Given the description of an element on the screen output the (x, y) to click on. 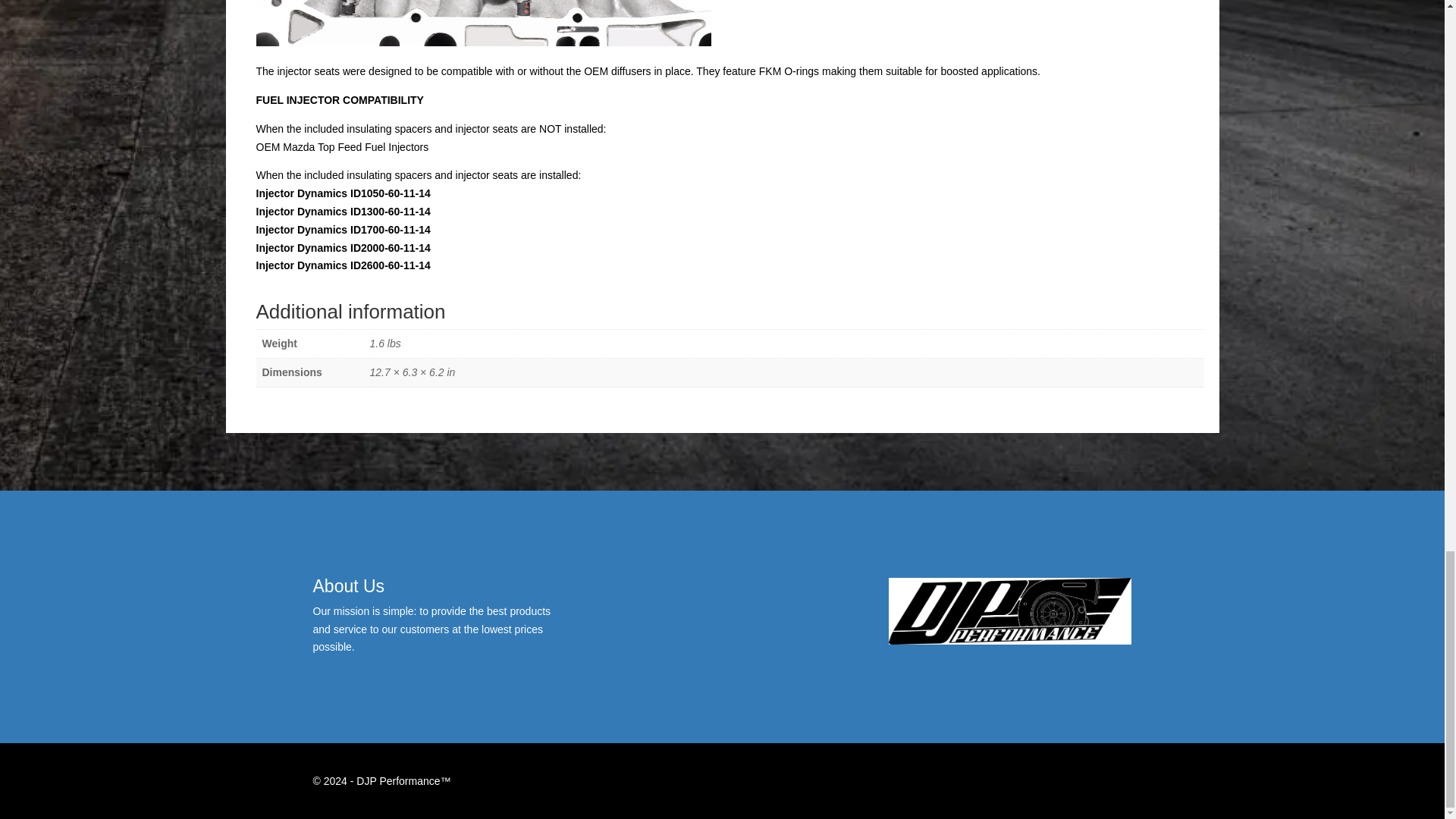
11-20-2013 DJP Performance logo (1009, 611)
